Given the description of an element on the screen output the (x, y) to click on. 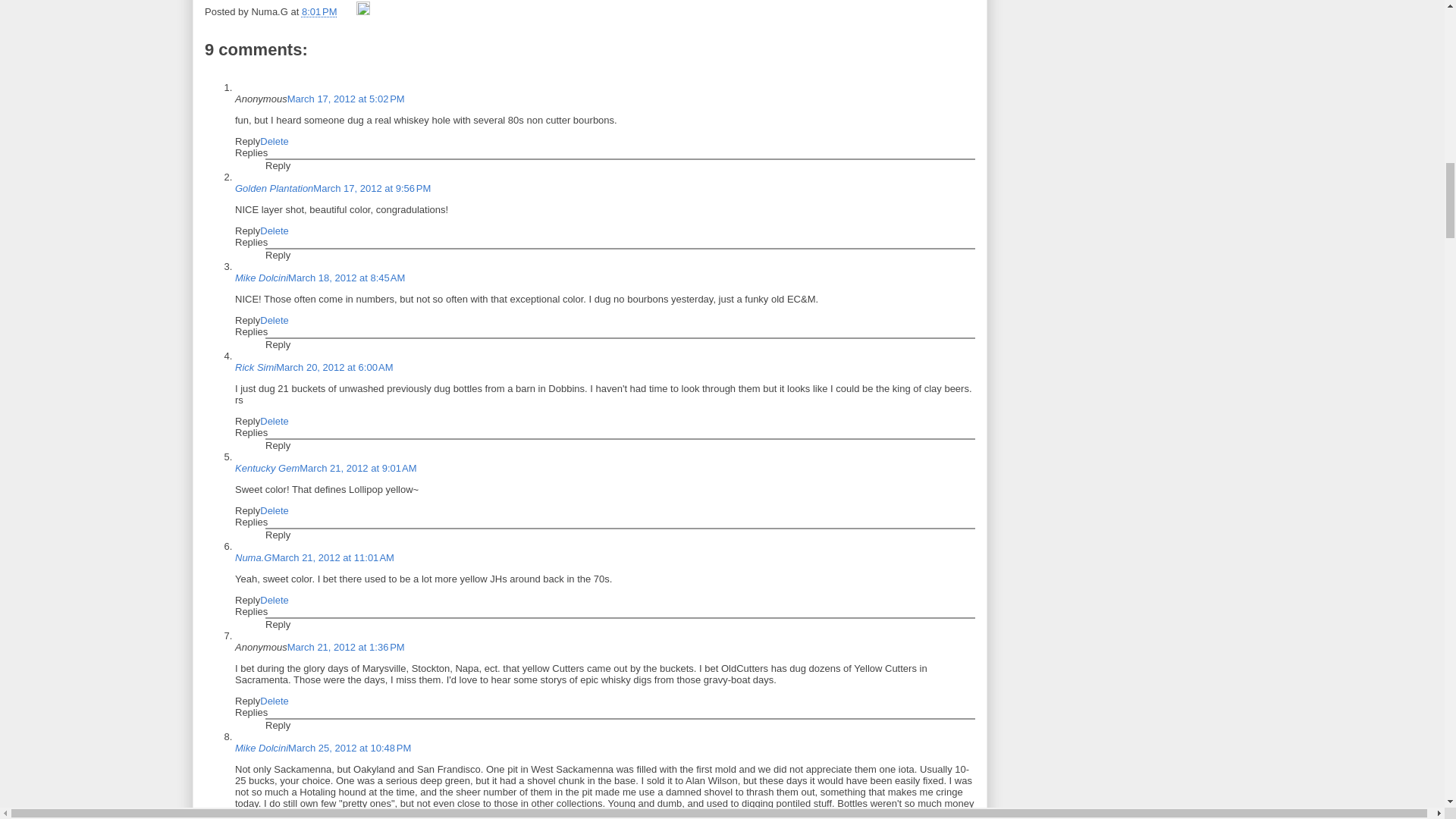
Delete (274, 420)
Edit Post (362, 11)
Delete (274, 230)
permanent link (319, 11)
Replies (250, 331)
Delete (274, 510)
Reply (247, 319)
Delete (274, 319)
Reply (276, 534)
Rick Simi (255, 367)
Reply (276, 445)
Reply (247, 141)
